Given the description of an element on the screen output the (x, y) to click on. 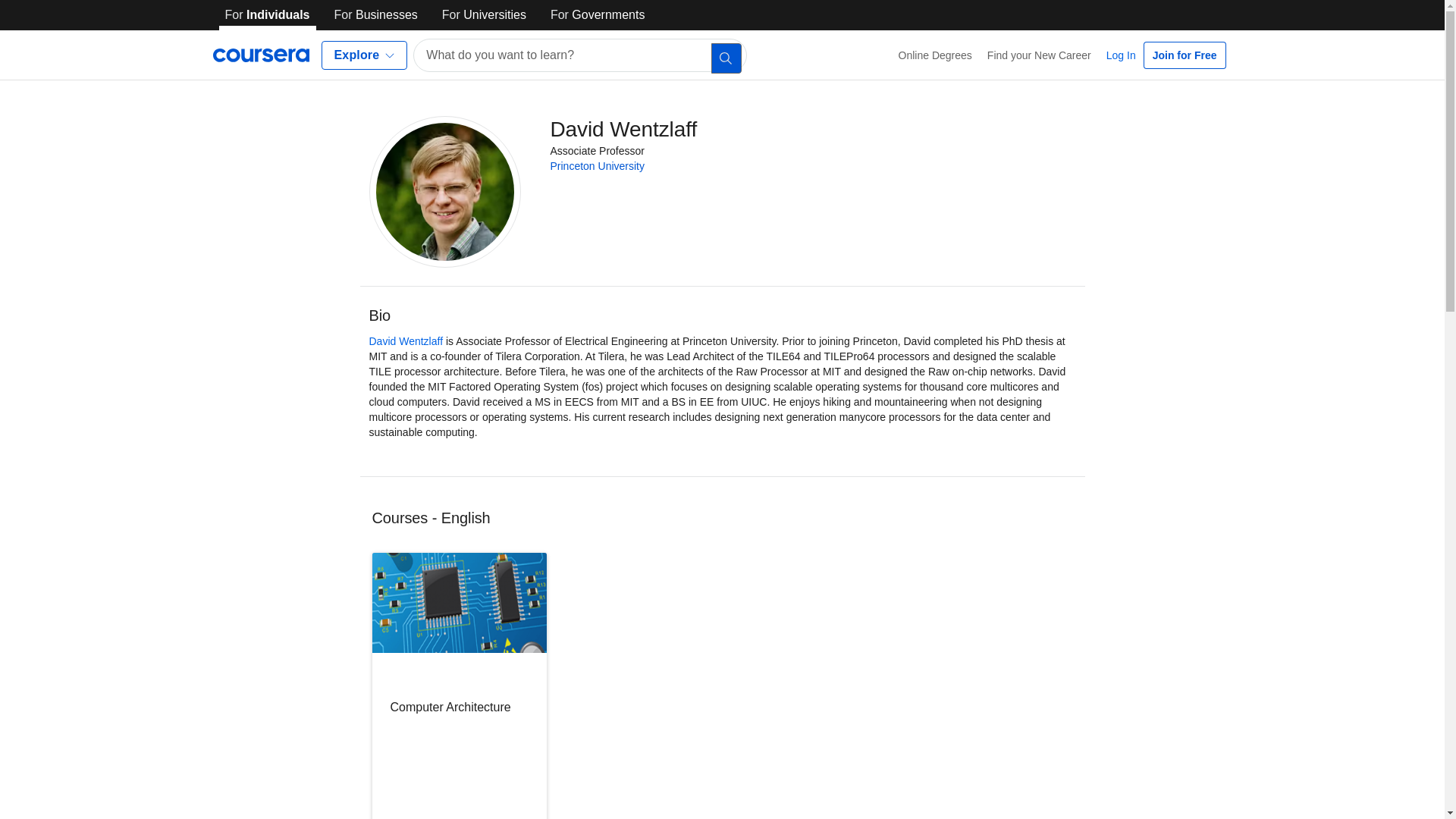
David Wentzlaff (405, 340)
Log In (1120, 54)
Find your New Career (1039, 54)
Princeton University (597, 165)
For Universities (483, 15)
For Individuals (266, 15)
Join for Free (1183, 53)
Online Degrees (935, 54)
Explore (364, 54)
For Businesses (376, 15)
For Governments (597, 15)
